Given the description of an element on the screen output the (x, y) to click on. 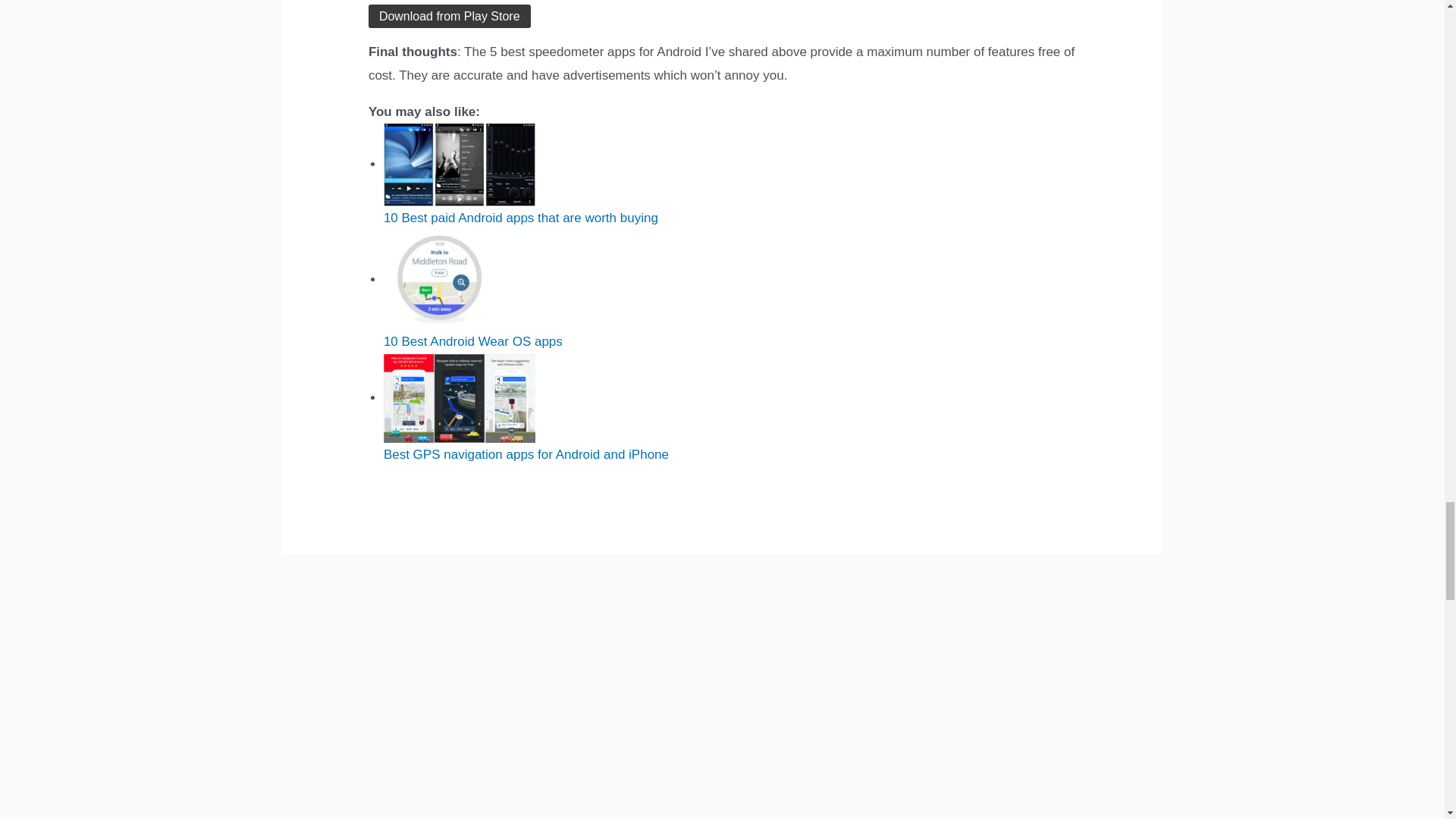
Best GPS navigation apps for Android and iPhone (459, 398)
10 Best paid Android apps that are worth buying (459, 164)
10 Best Android Wear OS apps (459, 280)
